Given the description of an element on the screen output the (x, y) to click on. 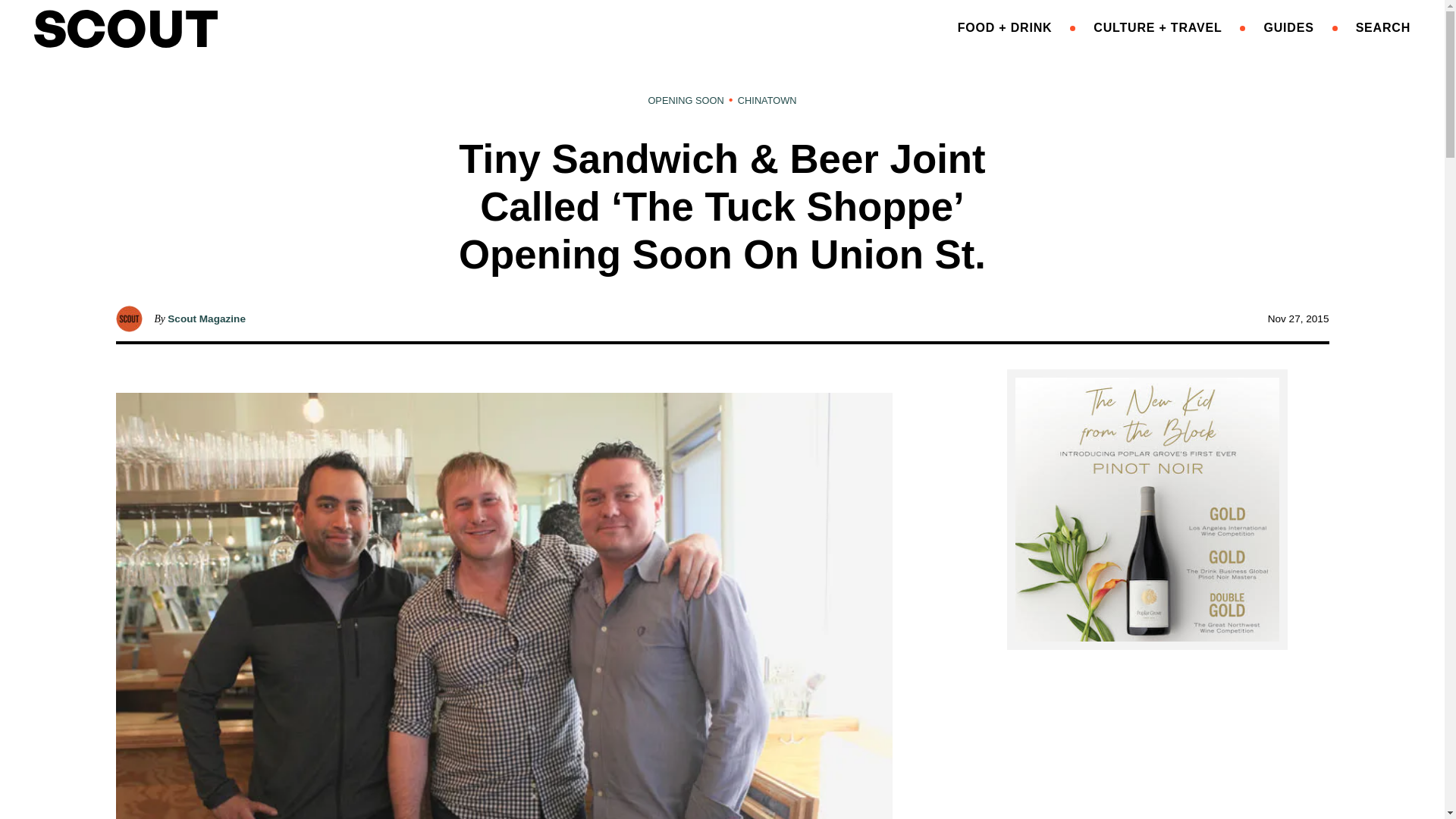
SEARCH (1382, 27)
CHINATOWN (767, 100)
OPENING SOON (685, 100)
GUIDES (1288, 27)
Scout Magazine (206, 318)
2015-11-27T13:55:41-08:00 (1298, 318)
